Given the description of an element on the screen output the (x, y) to click on. 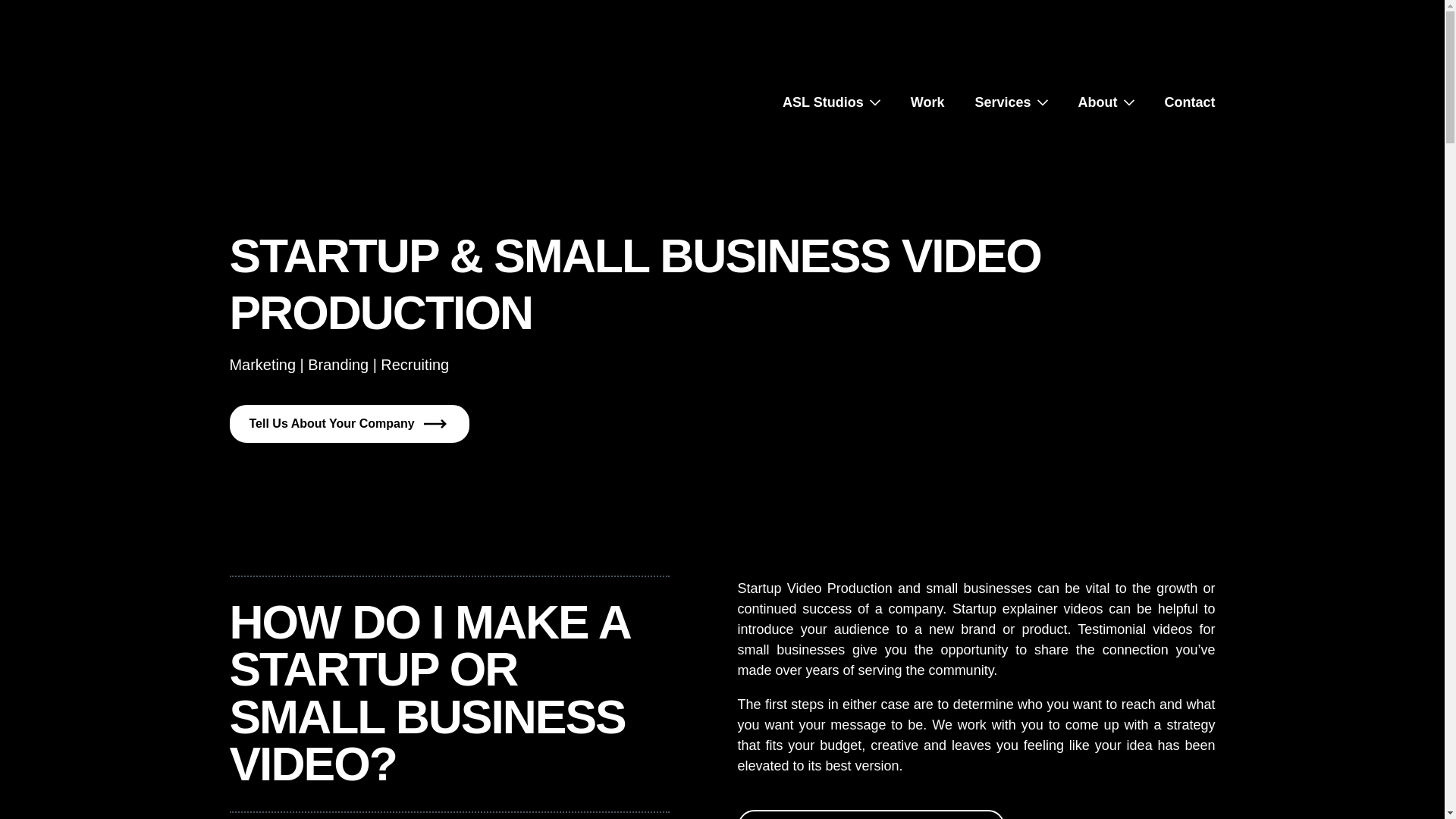
Tell Us About Your Company (348, 423)
About (1098, 102)
Services (1002, 102)
Contact (1189, 102)
Schedule a Call With Your Producer (870, 814)
ASL Studios (823, 102)
